Given the description of an element on the screen output the (x, y) to click on. 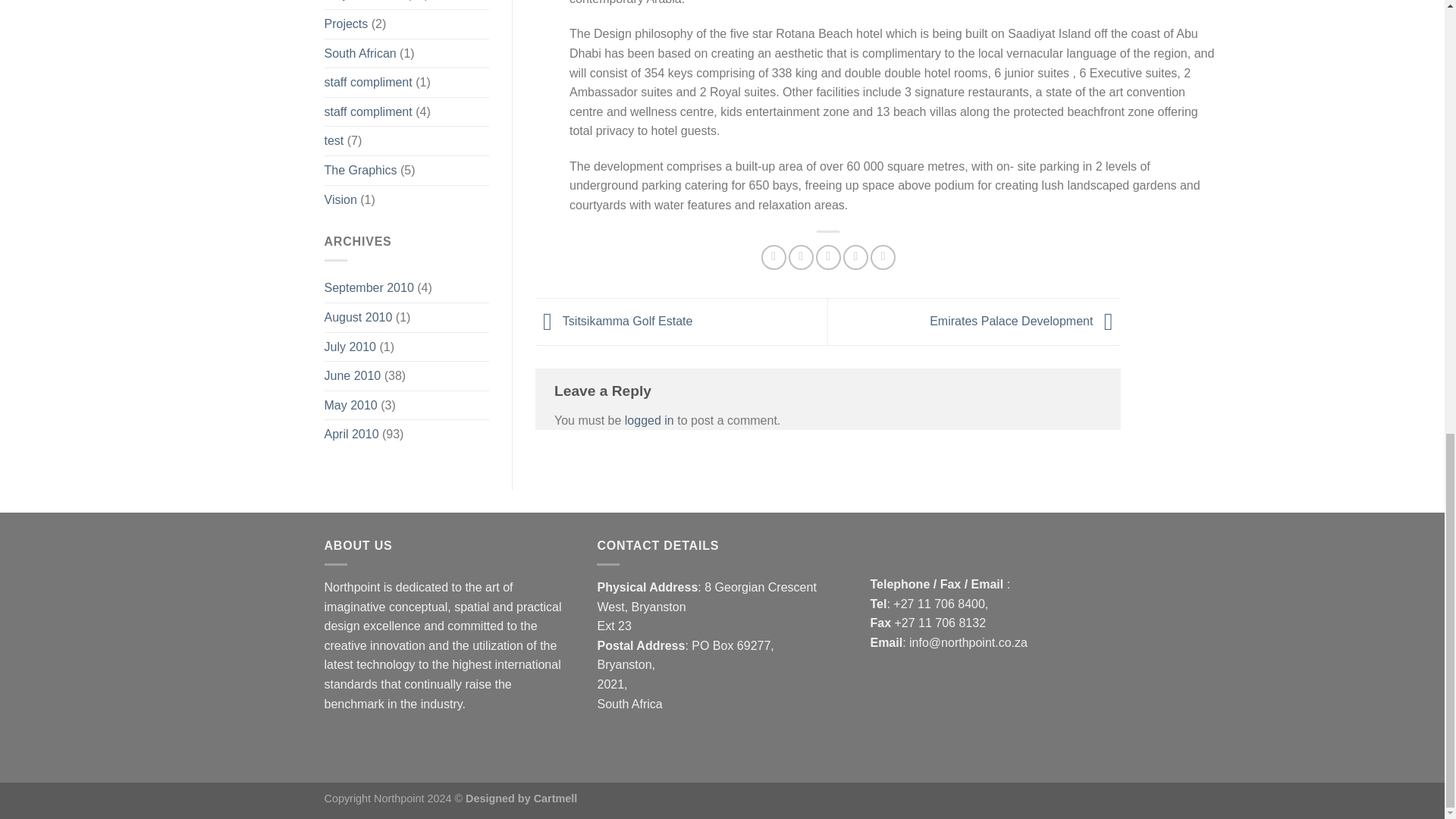
staff compliment (368, 111)
South African (360, 53)
Share on Facebook (773, 257)
Share on Twitter (801, 257)
Projects (346, 23)
Email to a Friend (828, 257)
Pin on Pinterest (855, 257)
Project Names (364, 4)
Share on LinkedIn (882, 257)
staff compliment (368, 82)
